Given the description of an element on the screen output the (x, y) to click on. 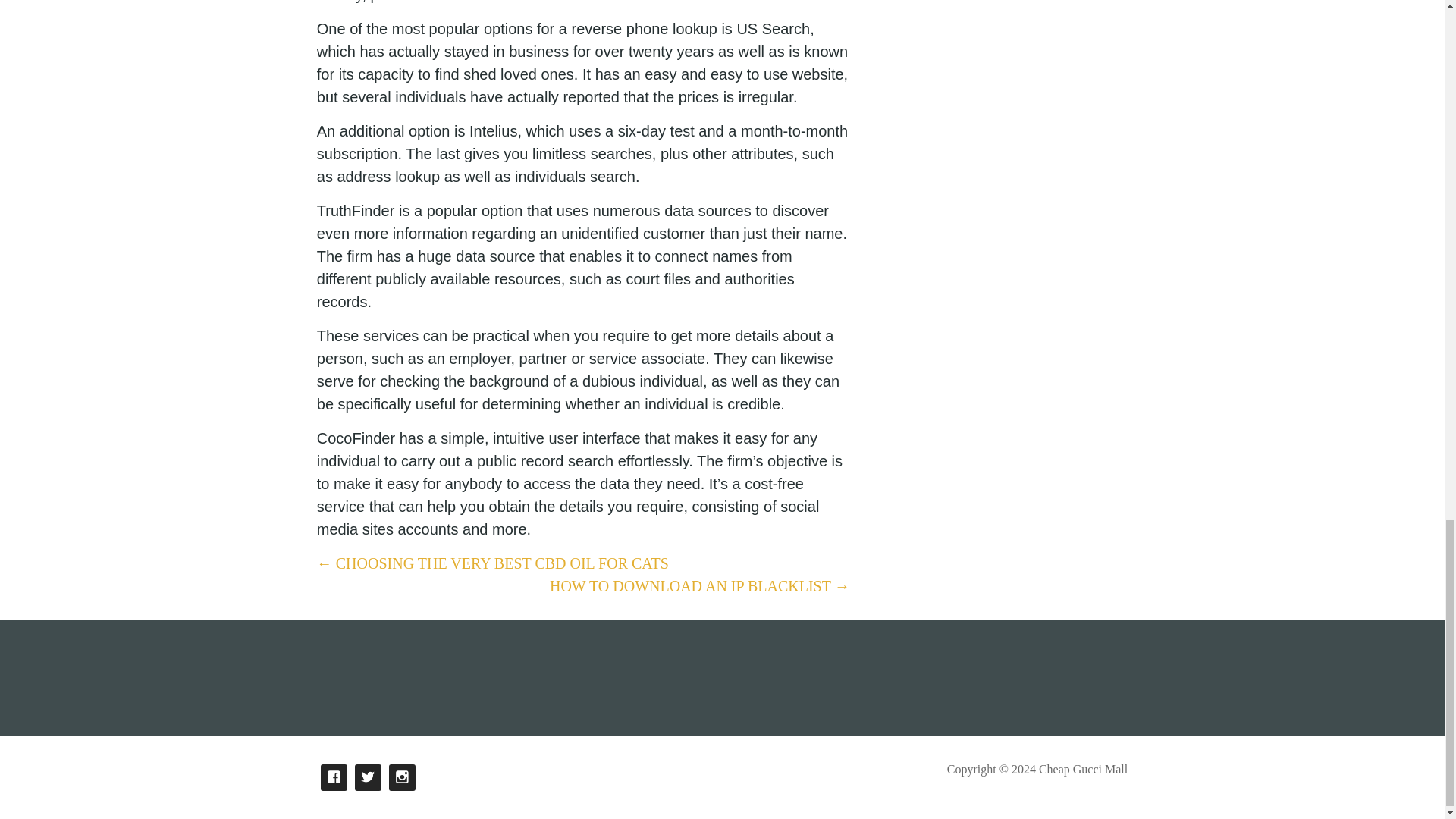
INSTAGRAM (401, 777)
TWITTER (368, 777)
FACEBOOK (333, 777)
